Given the description of an element on the screen output the (x, y) to click on. 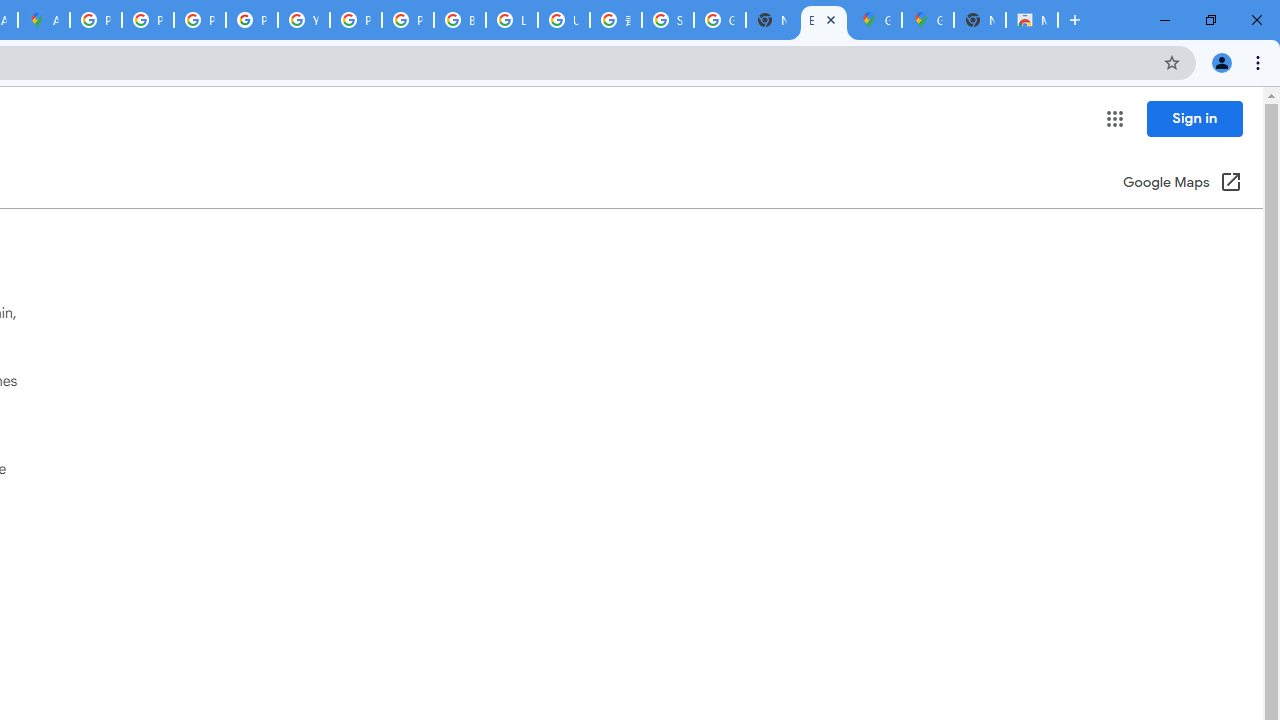
Sign in - Google Accounts (667, 20)
YouTube (303, 20)
Explore new street-level details - Google Maps Help (823, 20)
Policy Accountability and Transparency - Transparency Center (95, 20)
